Given the description of an element on the screen output the (x, y) to click on. 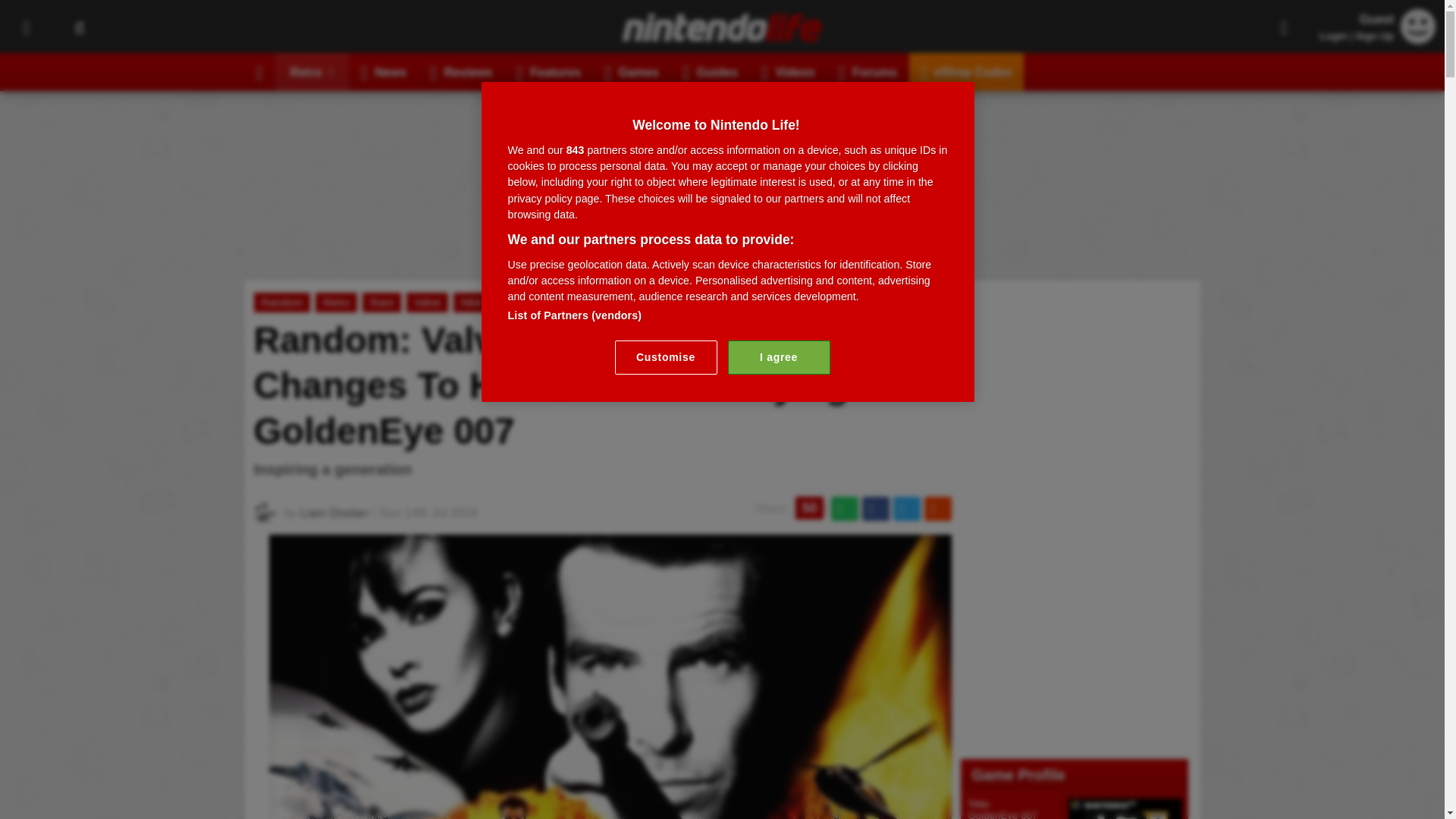
Games (631, 71)
Guides (710, 71)
Login (1332, 35)
Nintendo Life (721, 27)
Forums (867, 71)
News (384, 71)
Share This Page (1283, 26)
Videos (788, 71)
Topics (26, 26)
Reviews (462, 71)
